Given the description of an element on the screen output the (x, y) to click on. 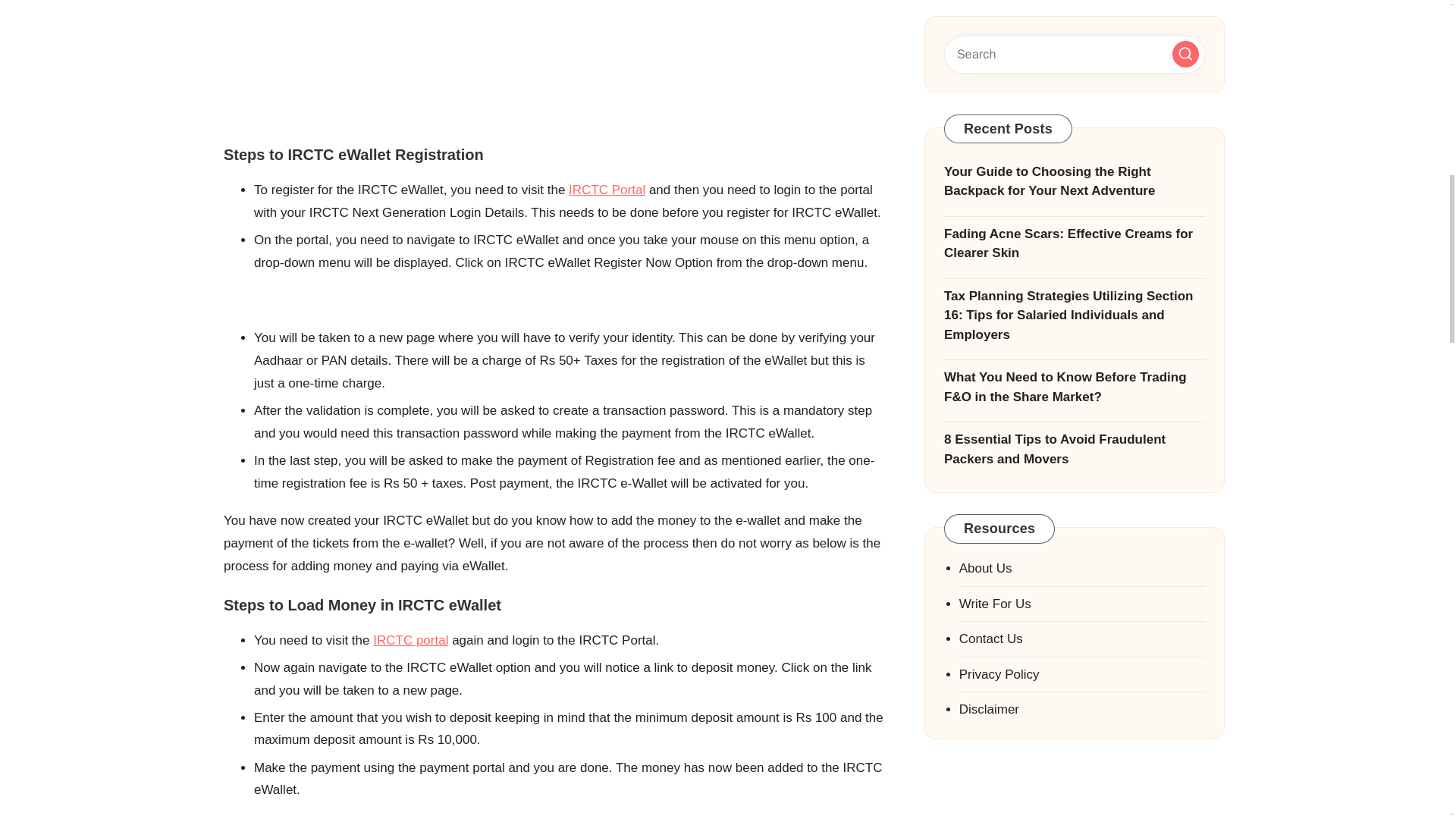
Advertisement (555, 59)
